Given the description of an element on the screen output the (x, y) to click on. 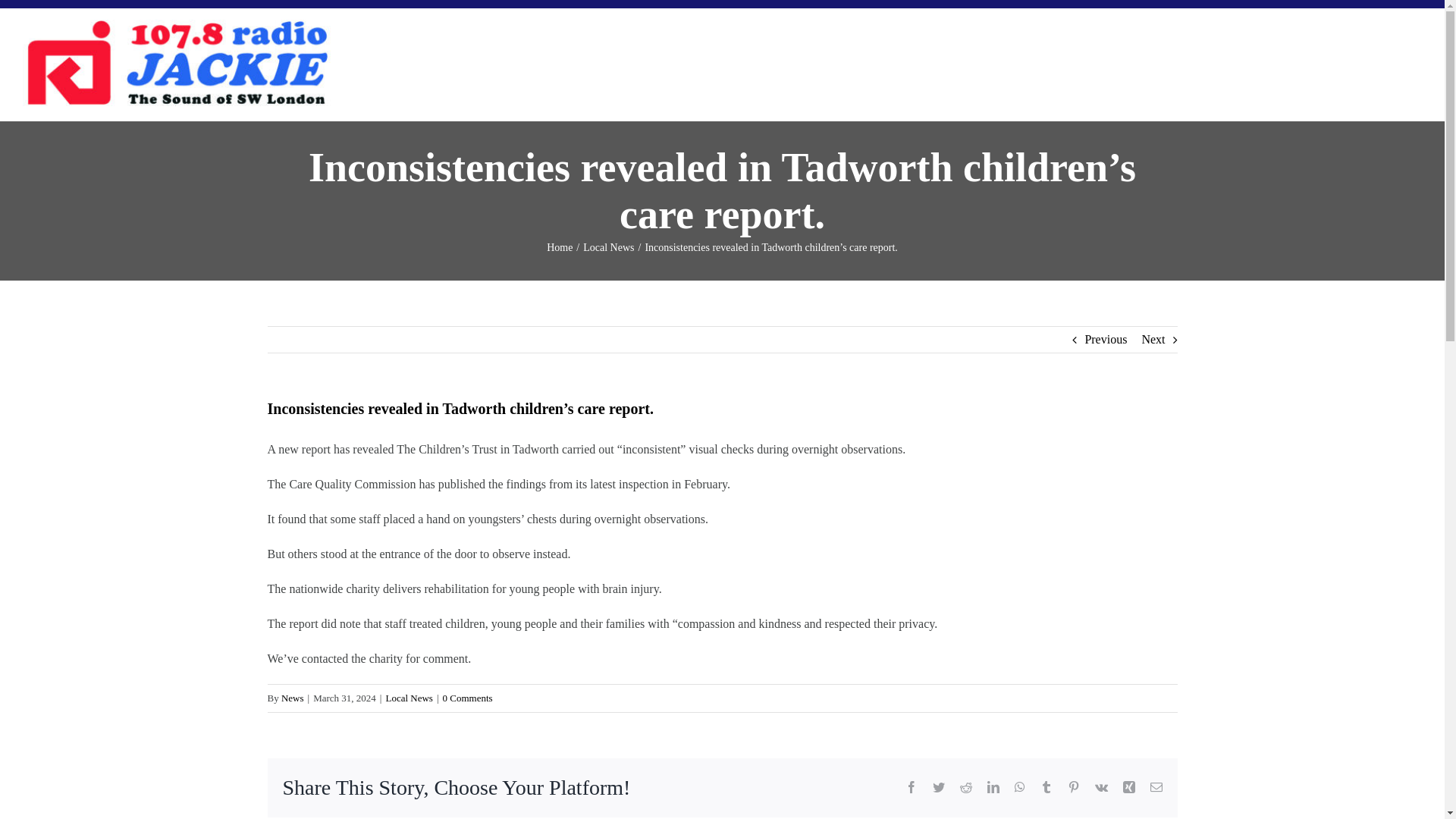
Posts by News (292, 697)
Xing (1128, 787)
Facebook (911, 787)
Twitter (938, 787)
LinkedIn (992, 787)
Pinterest (1073, 787)
Vk (1101, 787)
Next (1152, 339)
LinkedIn (992, 787)
Reddit (965, 787)
